Given the description of an element on the screen output the (x, y) to click on. 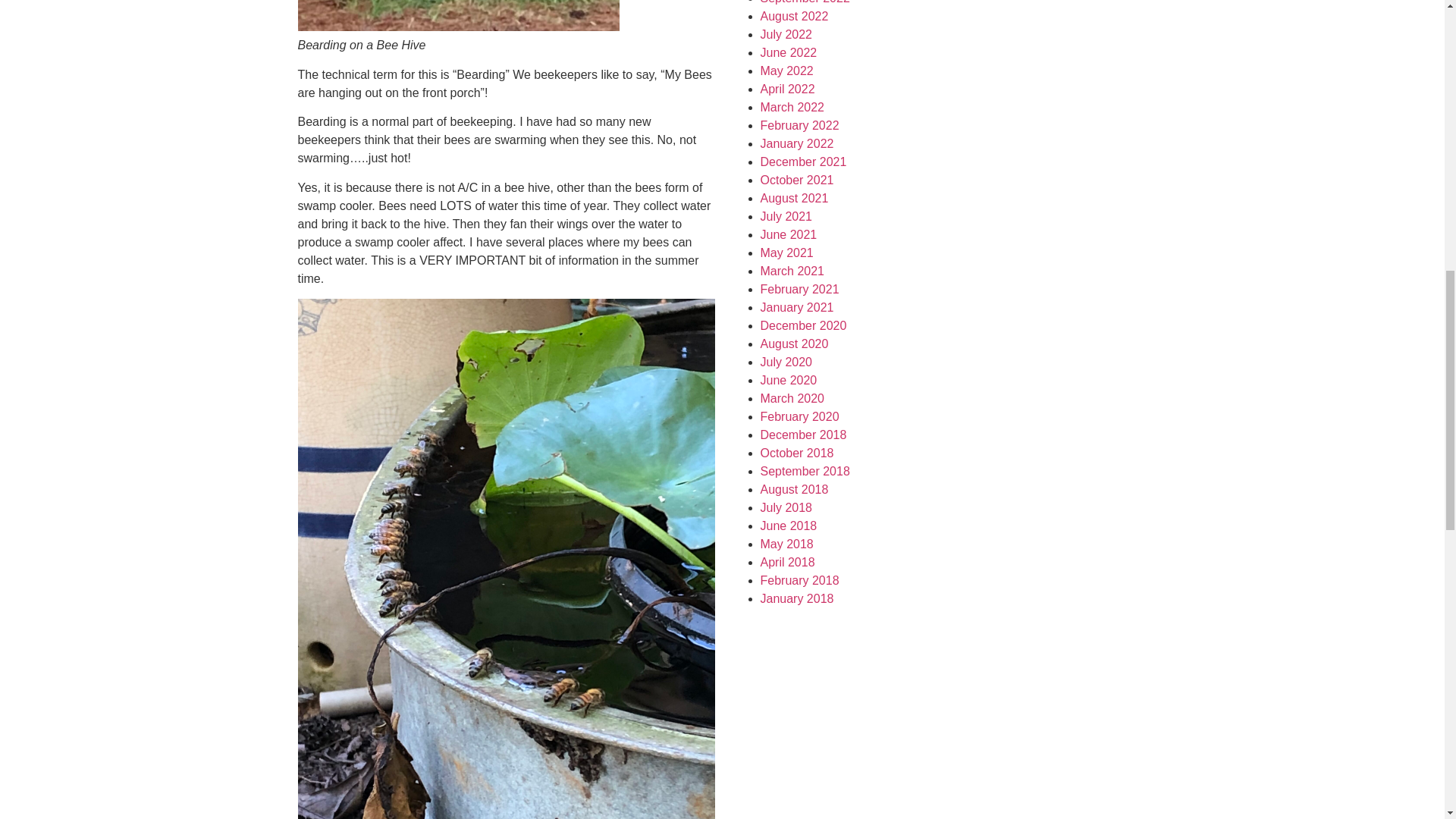
July 2022 (786, 33)
August 2022 (794, 15)
June 2022 (788, 51)
September 2022 (804, 2)
